Given the description of an element on the screen output the (x, y) to click on. 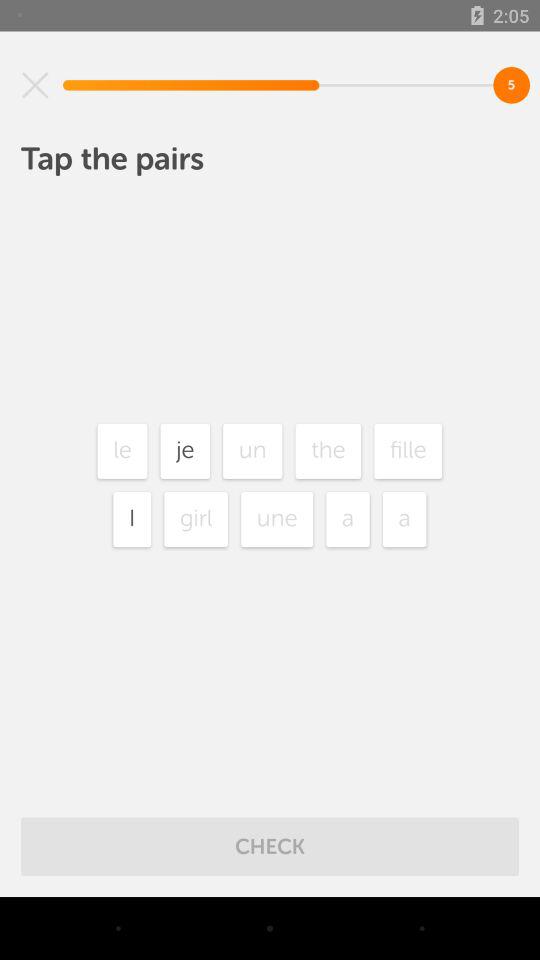
select item next to the le (185, 450)
